Given the description of an element on the screen output the (x, y) to click on. 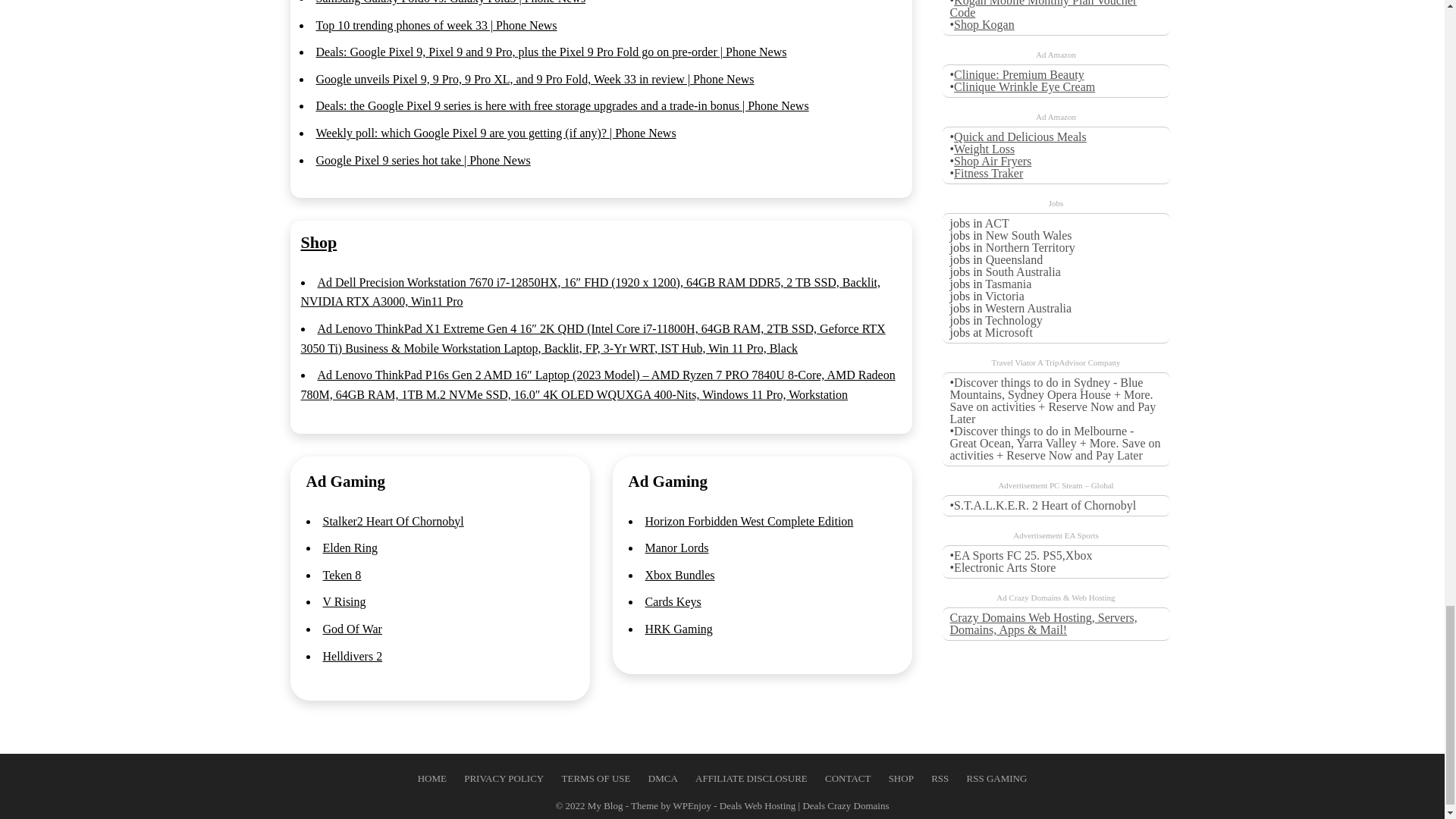
God Of War (352, 628)
Horizon Forbidden West Complete Edition (749, 521)
Cards Keys (672, 601)
V Rising (344, 601)
Elden Ring (350, 547)
Stalker2 Heart Of Chornobyl (393, 521)
Helldivers 2 (352, 656)
Manor Lords (676, 547)
HRK Gaming (678, 628)
Xbox Bundles (679, 574)
